Given the description of an element on the screen output the (x, y) to click on. 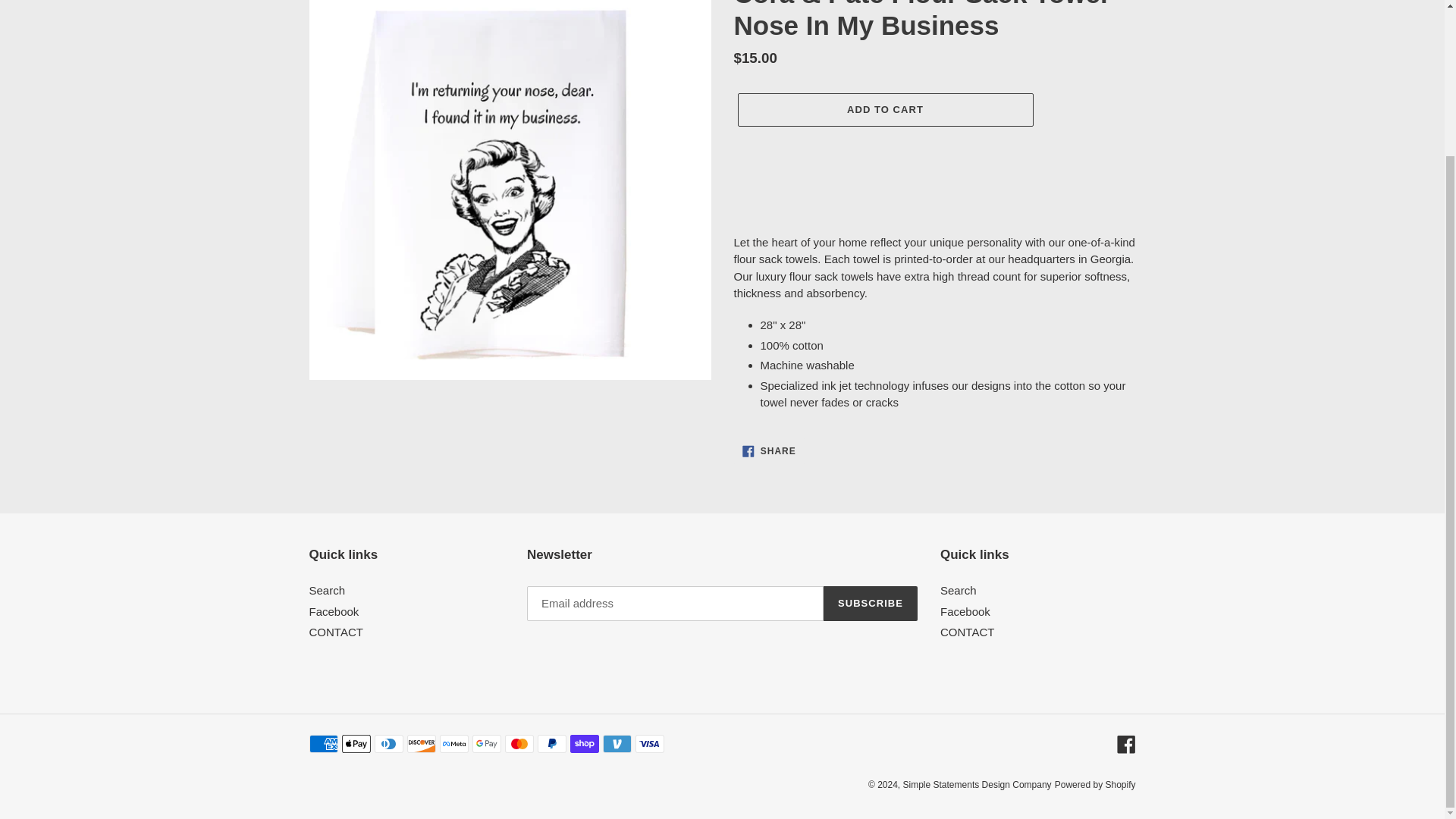
CONTACT (335, 631)
Simple Statements Design Company (976, 784)
Facebook (1125, 743)
CONTACT (967, 631)
Powered by Shopify (769, 451)
Facebook (1094, 784)
Search (333, 611)
Search (327, 590)
SUBSCRIBE (958, 590)
Facebook (870, 603)
ADD TO CART (965, 611)
